Given the description of an element on the screen output the (x, y) to click on. 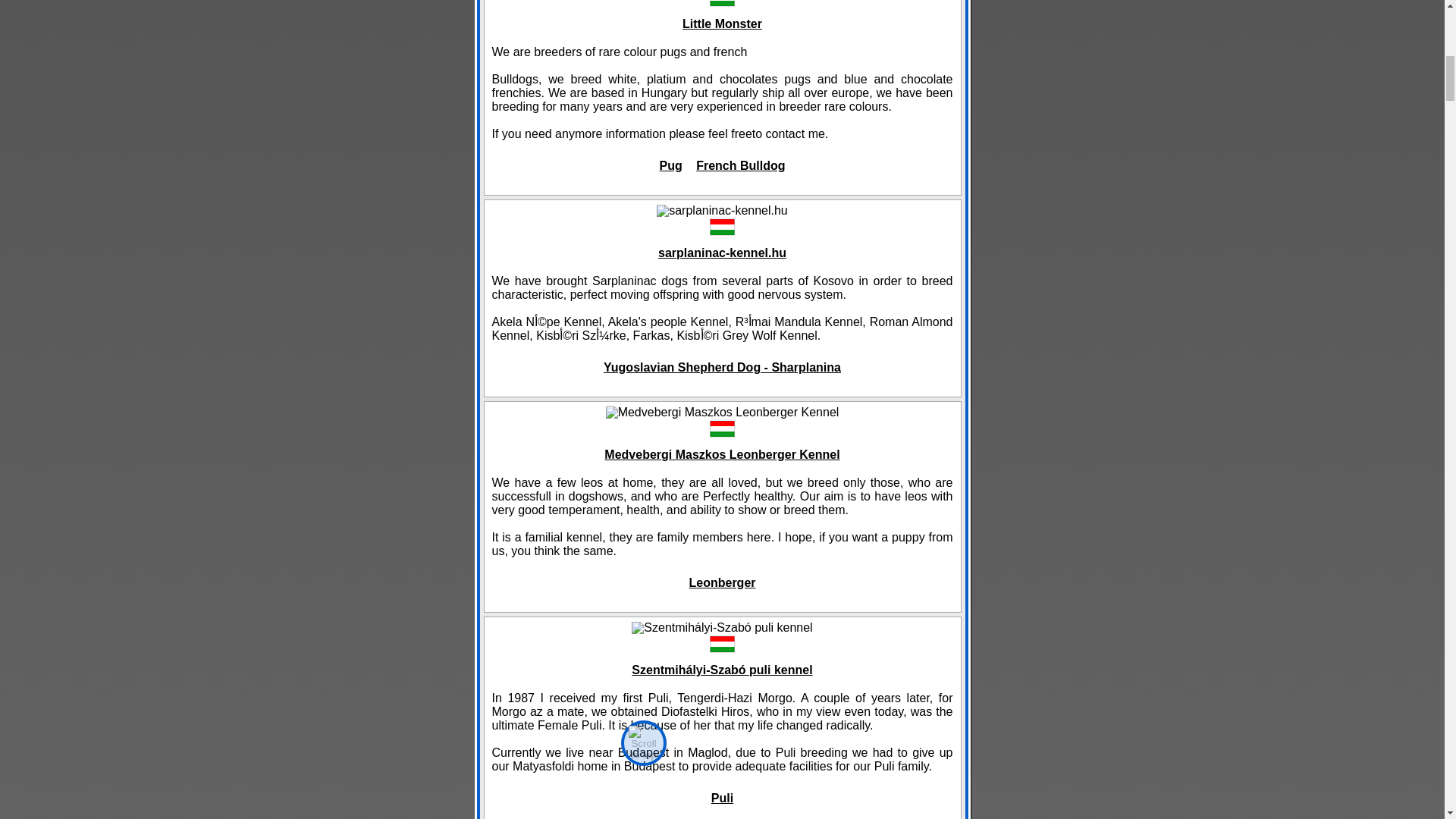
Medvebergi Maszkos Leonberger Kennel (722, 454)
Yugoslavian Shepherd Dog - Sharplanina (721, 366)
Leonberger (721, 582)
Little Monster (721, 23)
sarplaninac-kennel.hu (722, 252)
Pug (670, 165)
Puli (722, 797)
French Bulldog (740, 165)
